Given the description of an element on the screen output the (x, y) to click on. 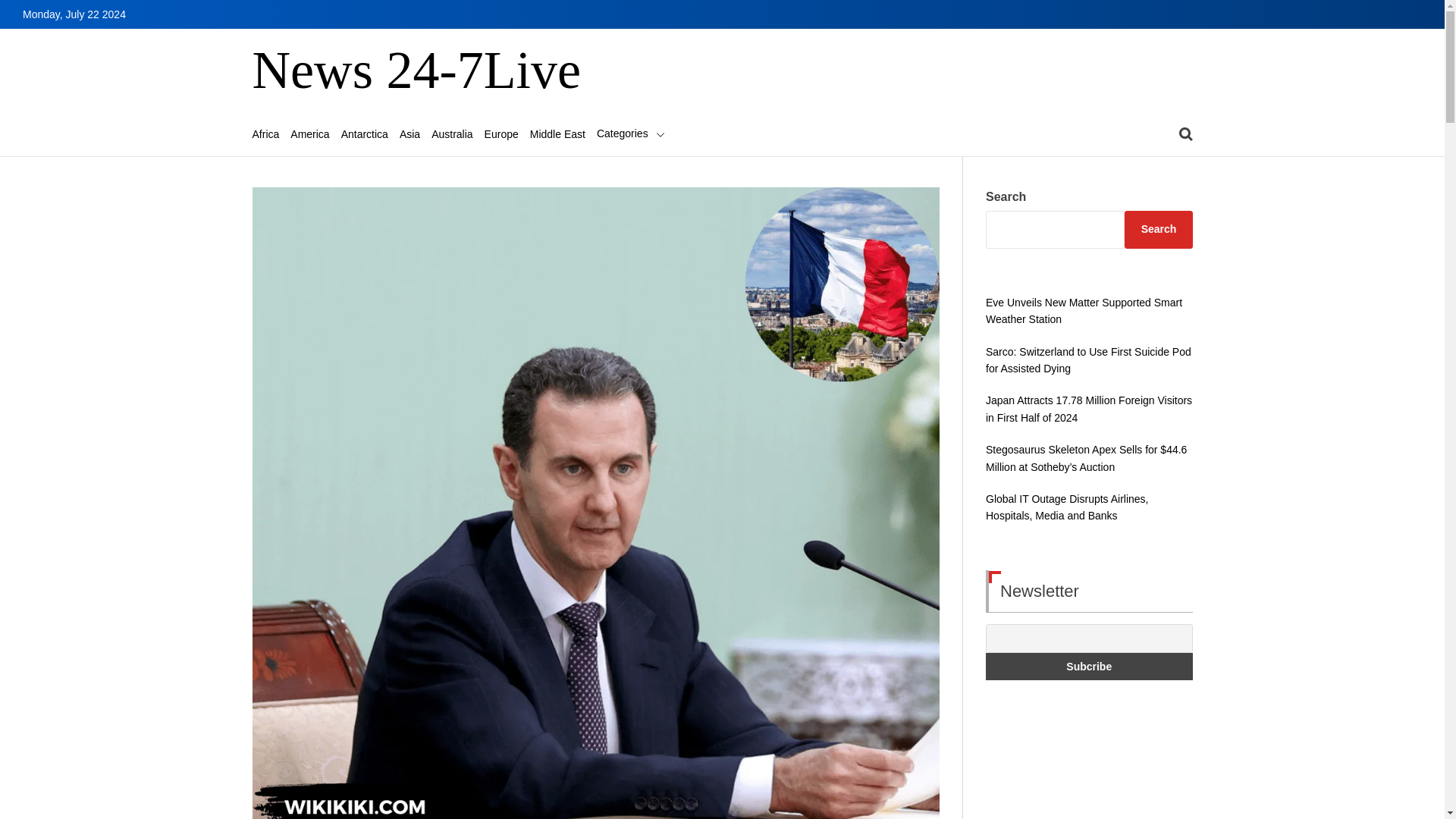
Middle East (557, 133)
Asia (409, 133)
Antarctica (364, 133)
Subcribe (1088, 666)
Europe (501, 133)
News 24-7Live (415, 70)
America (309, 133)
Categories (630, 133)
Australia (450, 133)
Africa (265, 133)
